Given the description of an element on the screen output the (x, y) to click on. 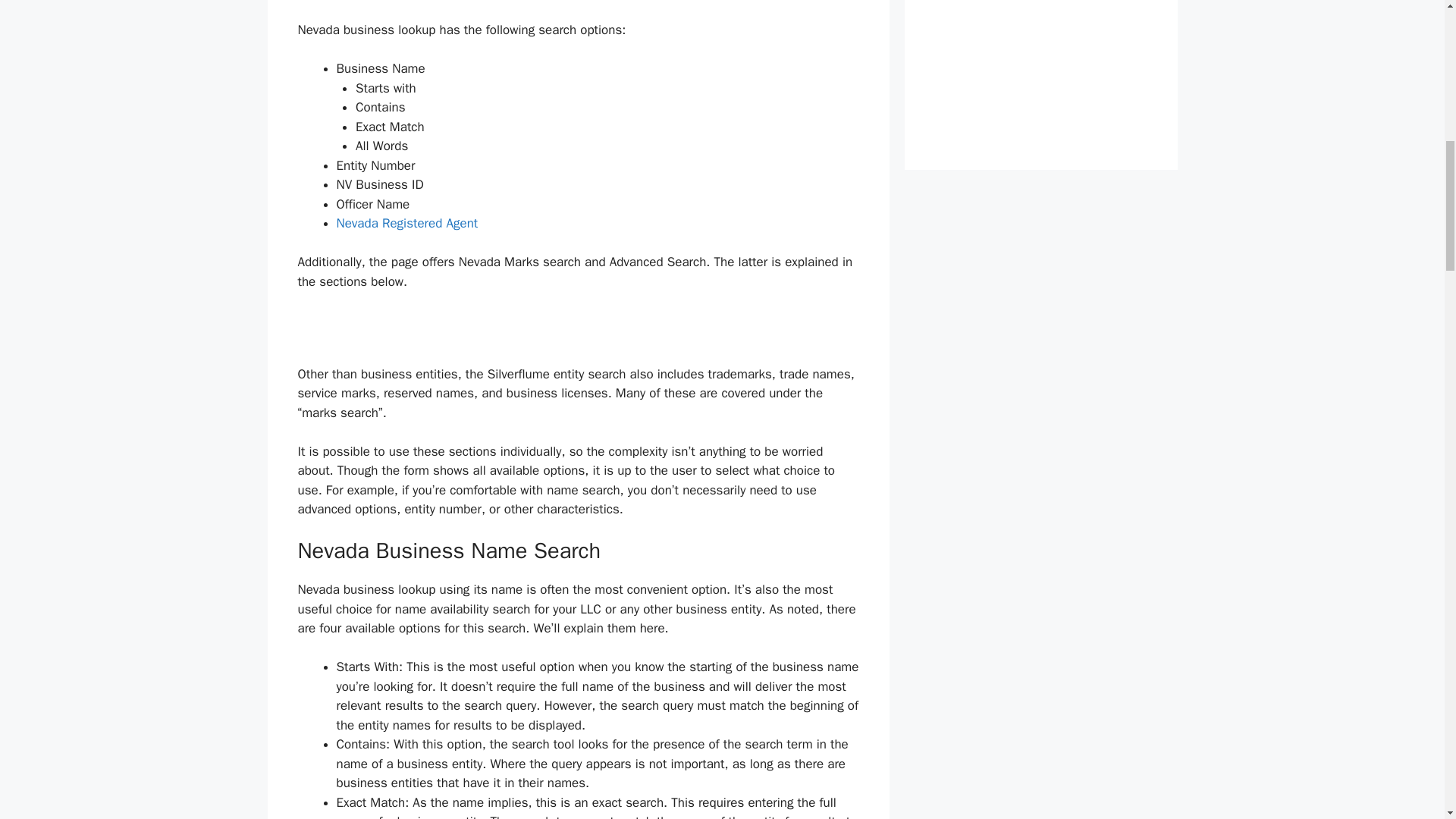
Nevada Registered Agent (407, 222)
Advertisement (1040, 40)
